Given the description of an element on the screen output the (x, y) to click on. 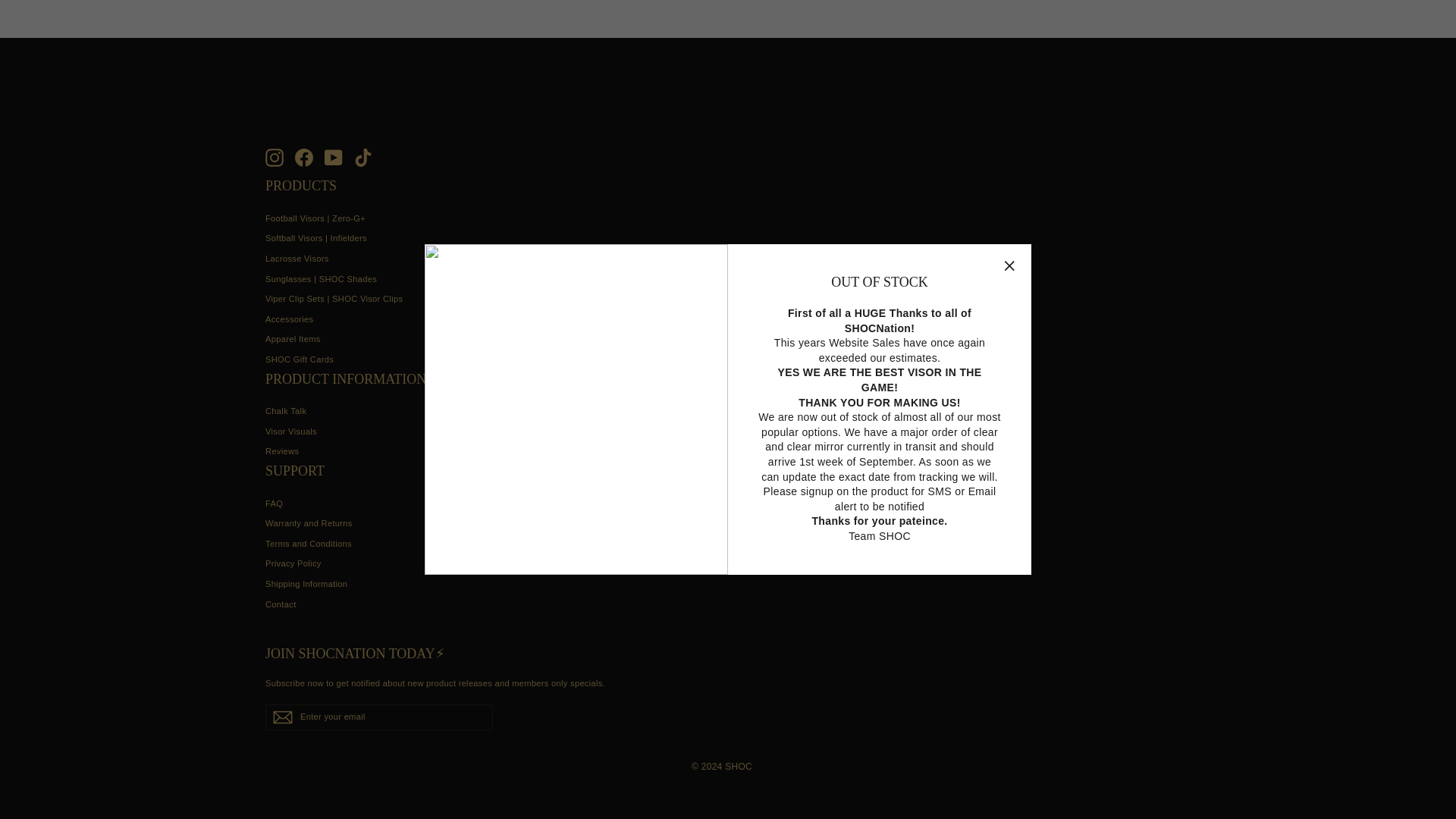
instagram (273, 157)
icon-email (282, 717)
SHOC  on Instagram (273, 157)
